Given the description of an element on the screen output the (x, y) to click on. 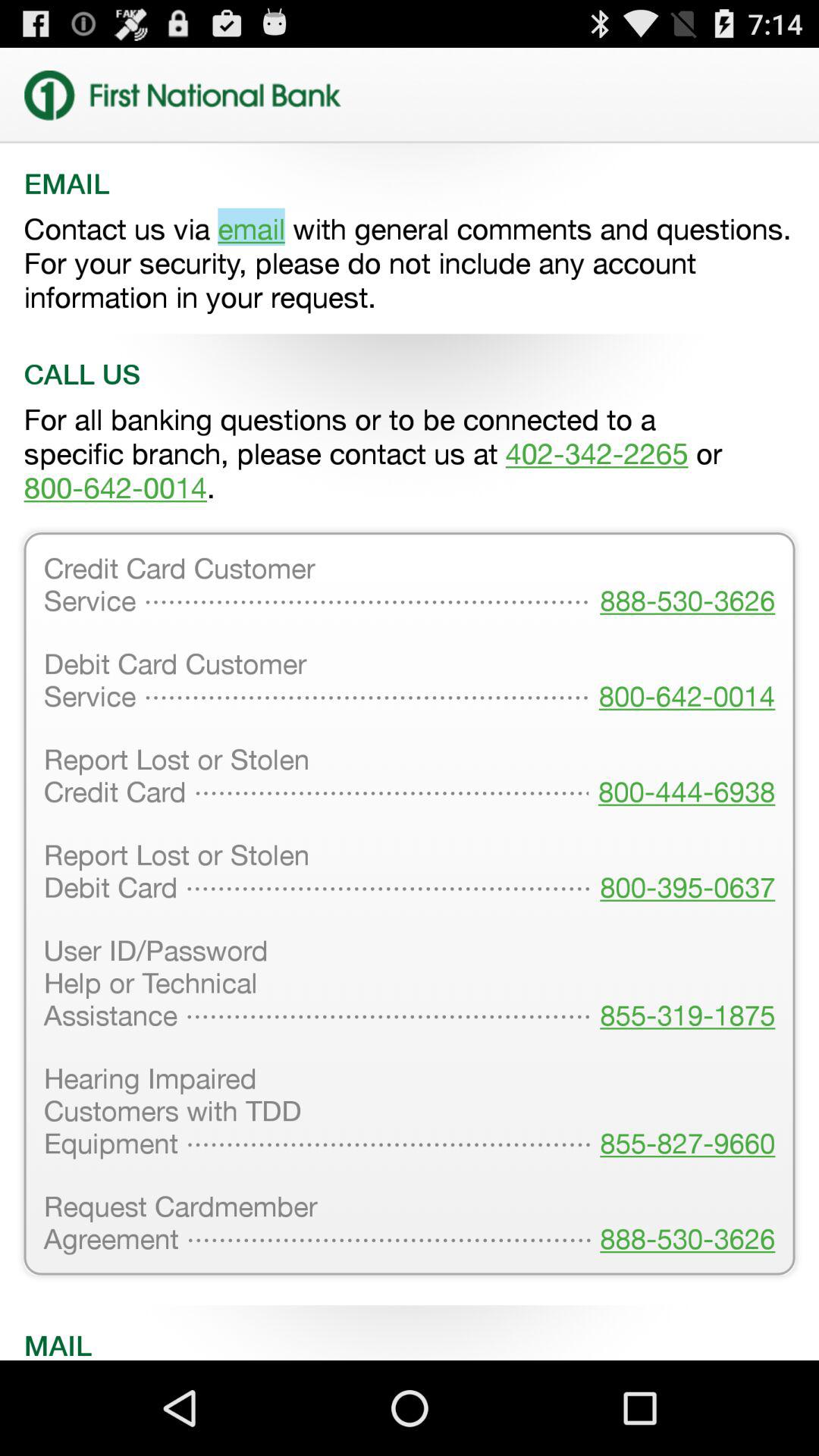
flip to the 800-444-6938 item (681, 777)
